Given the description of an element on the screen output the (x, y) to click on. 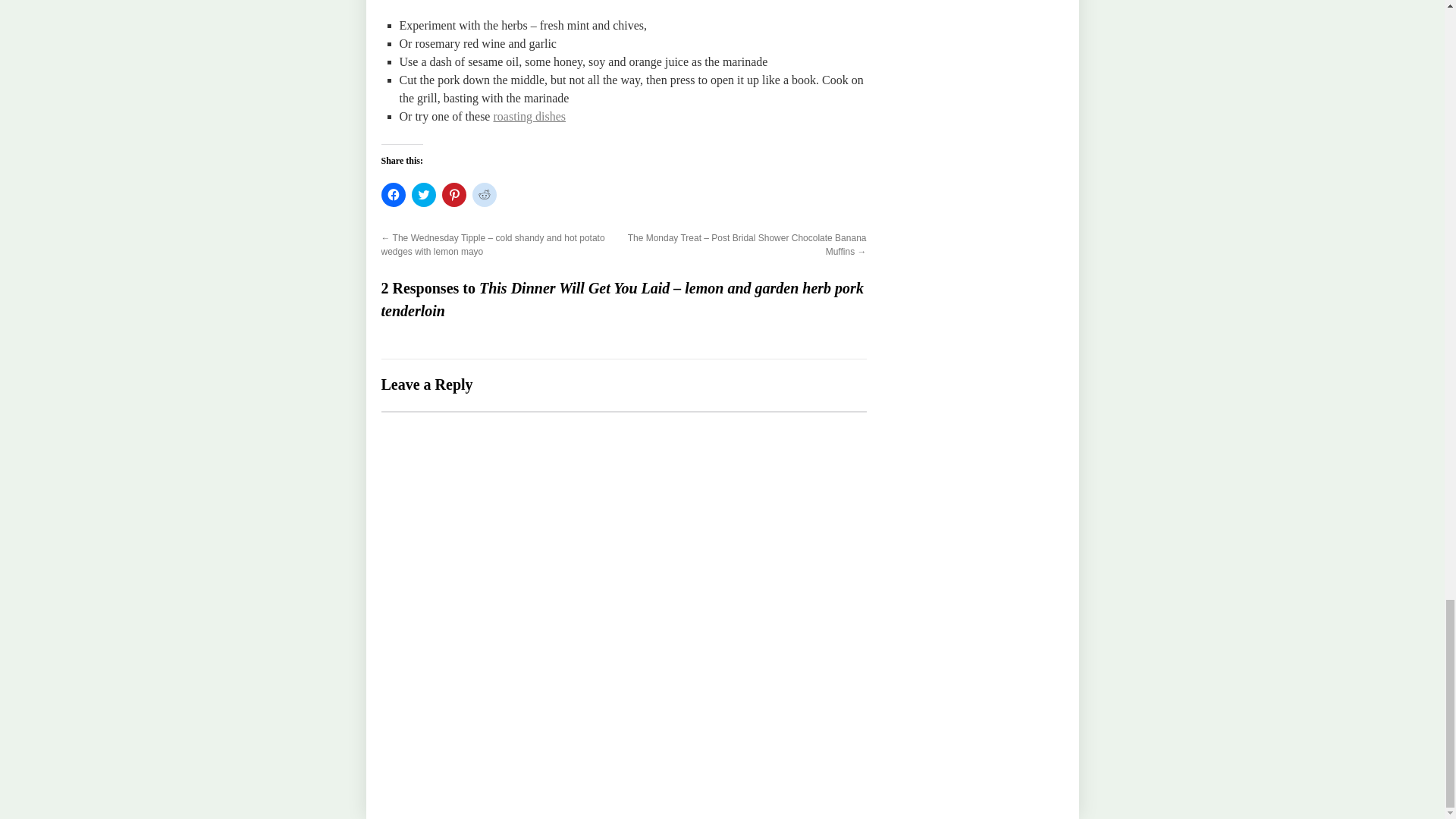
roasting dishes (529, 115)
